Given the description of an element on the screen output the (x, y) to click on. 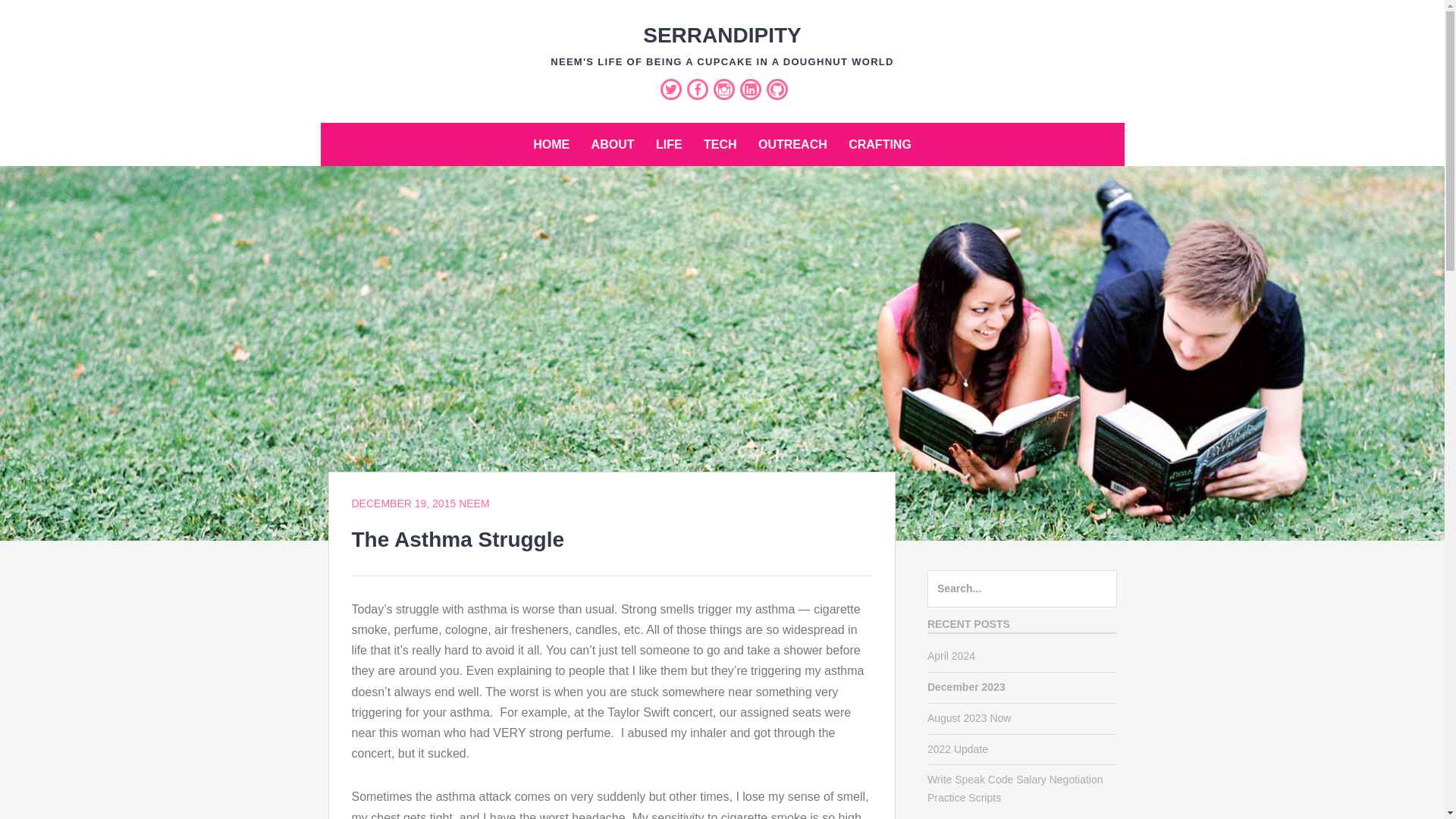
NEEM (473, 503)
Twitter (671, 88)
TECH (719, 144)
ABOUT (612, 144)
Instagram (724, 88)
LinkedIn (750, 88)
LIFE (668, 144)
April 2024 (951, 655)
CRAFTING (880, 144)
2022 Update (957, 748)
